Given the description of an element on the screen output the (x, y) to click on. 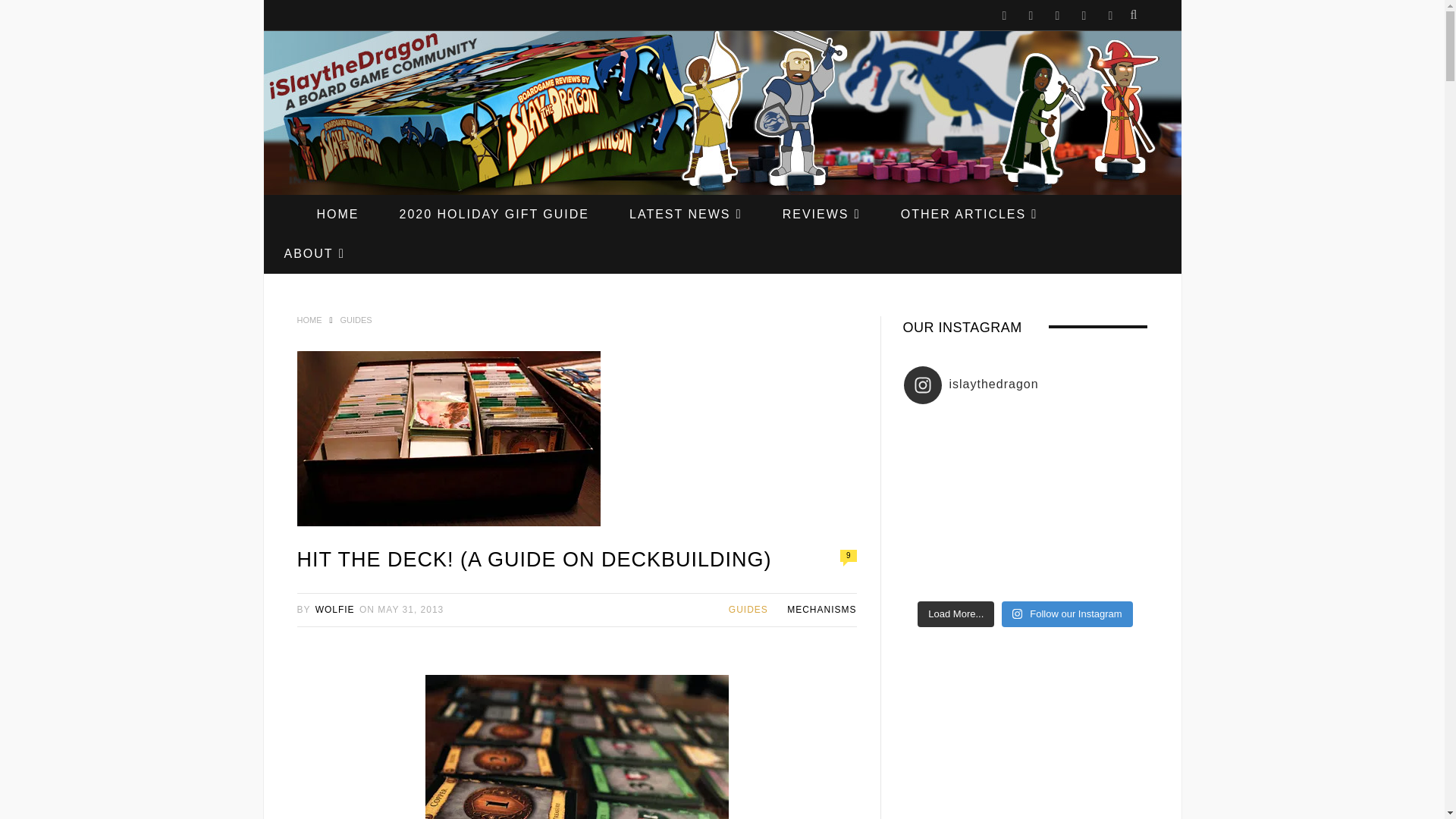
HOME (337, 214)
REVIEWS (821, 214)
2020 HOLIDAY GIFT GUIDE (493, 214)
LATEST NEWS (685, 214)
Posts by Wolfie (335, 609)
